Given the description of an element on the screen output the (x, y) to click on. 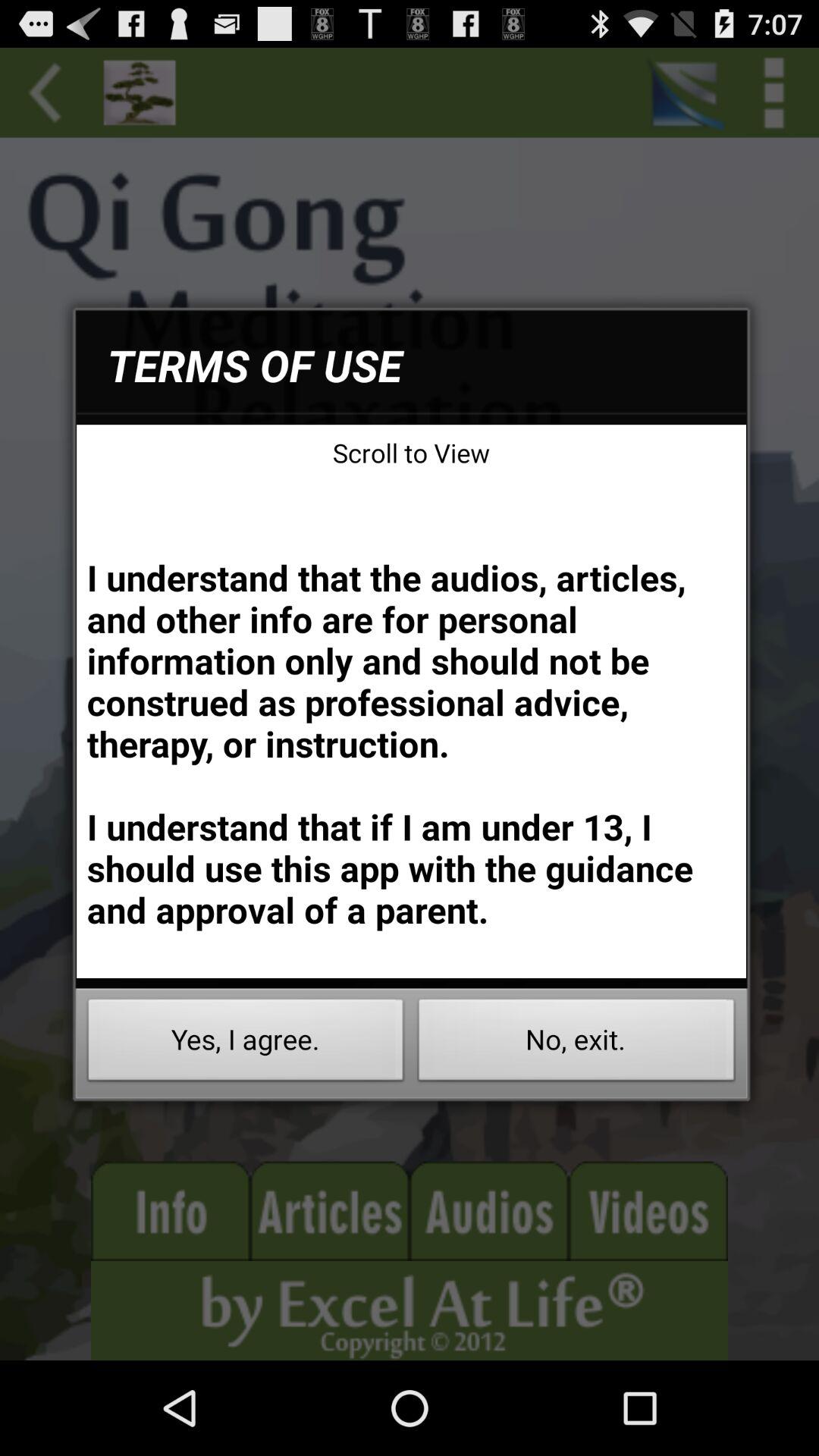
swipe to no, exit. icon (576, 1044)
